Given the description of an element on the screen output the (x, y) to click on. 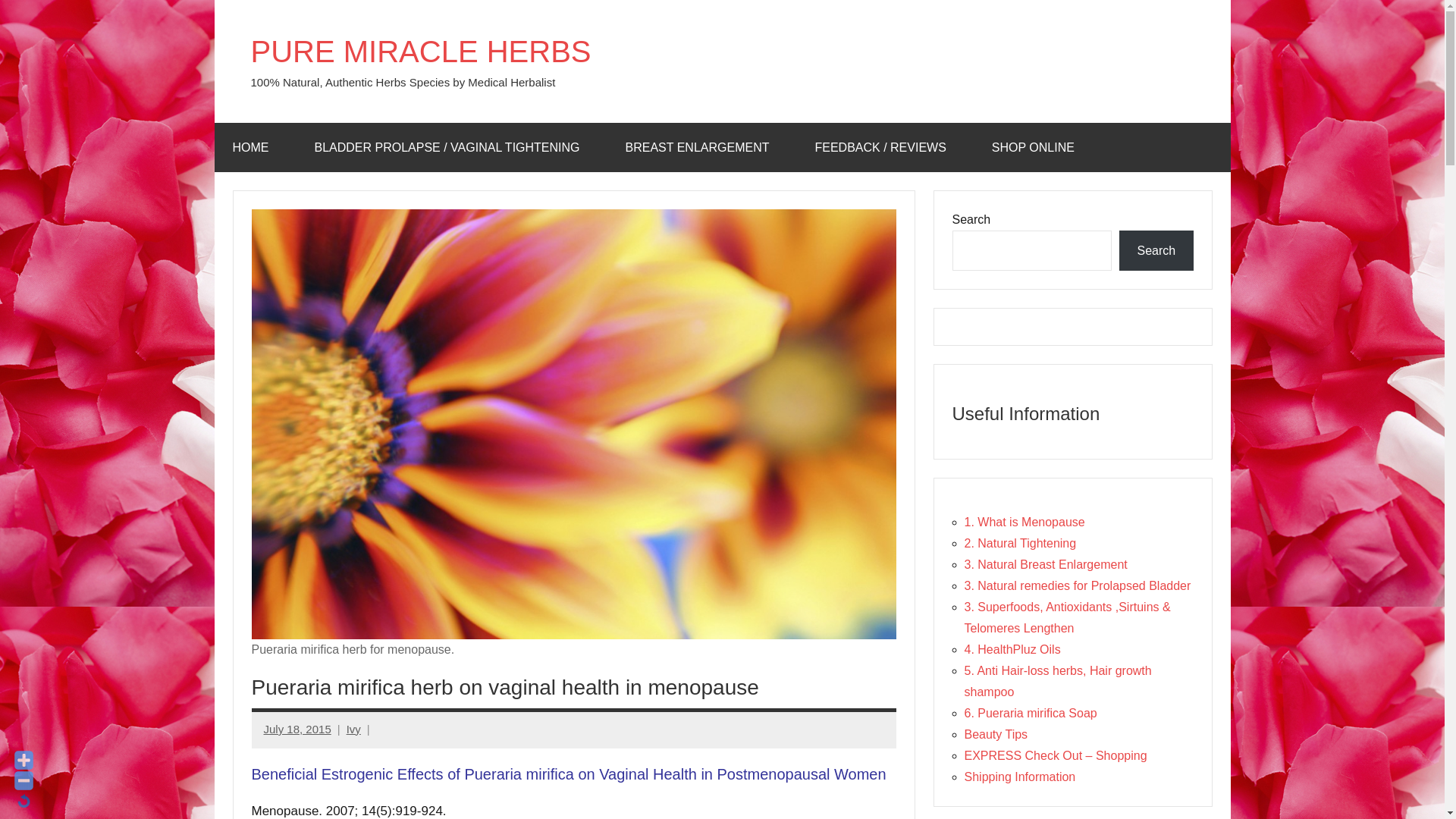
SHOP ONLINE (1038, 146)
HOME (254, 146)
BREAST ENLARGEMENT (701, 146)
pueraria mirifica (701, 146)
Curcuma comosa tightening pills to tighten virginia  (451, 146)
PURE MIRACLE HERBS (420, 51)
Vaginal rejuvenation without surgery (254, 146)
July 18, 2015 (297, 728)
